Given the description of an element on the screen output the (x, y) to click on. 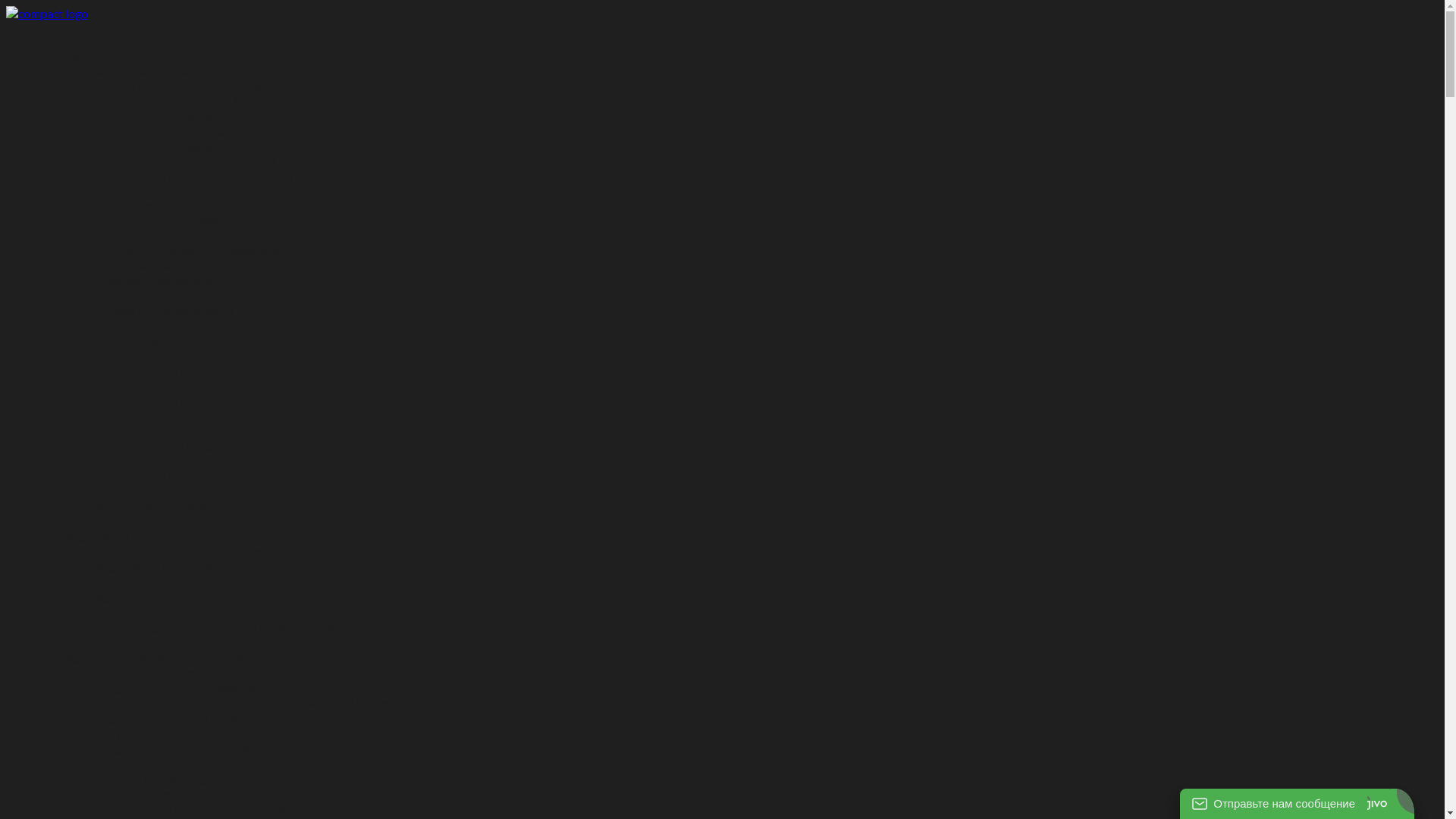
Blachotrapez Element type: text (161, 205)
Ruflex Element type: text (144, 339)
Hanbud Element type: text (148, 191)
IKO Element type: text (138, 325)
Metrobond Element type: text (157, 295)
